Given the description of an element on the screen output the (x, y) to click on. 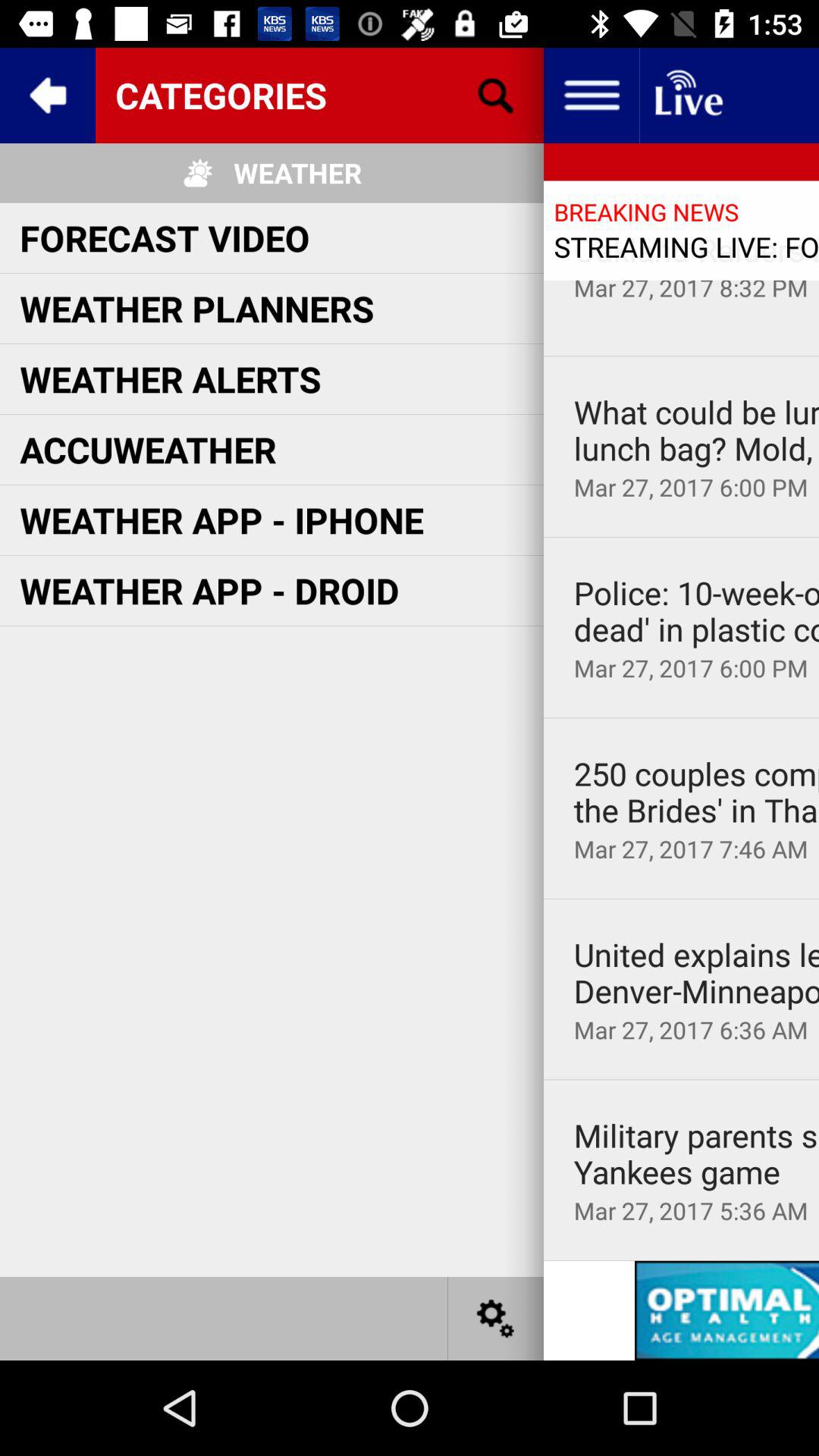
choose icon above the weather alerts item (196, 308)
